Given the description of an element on the screen output the (x, y) to click on. 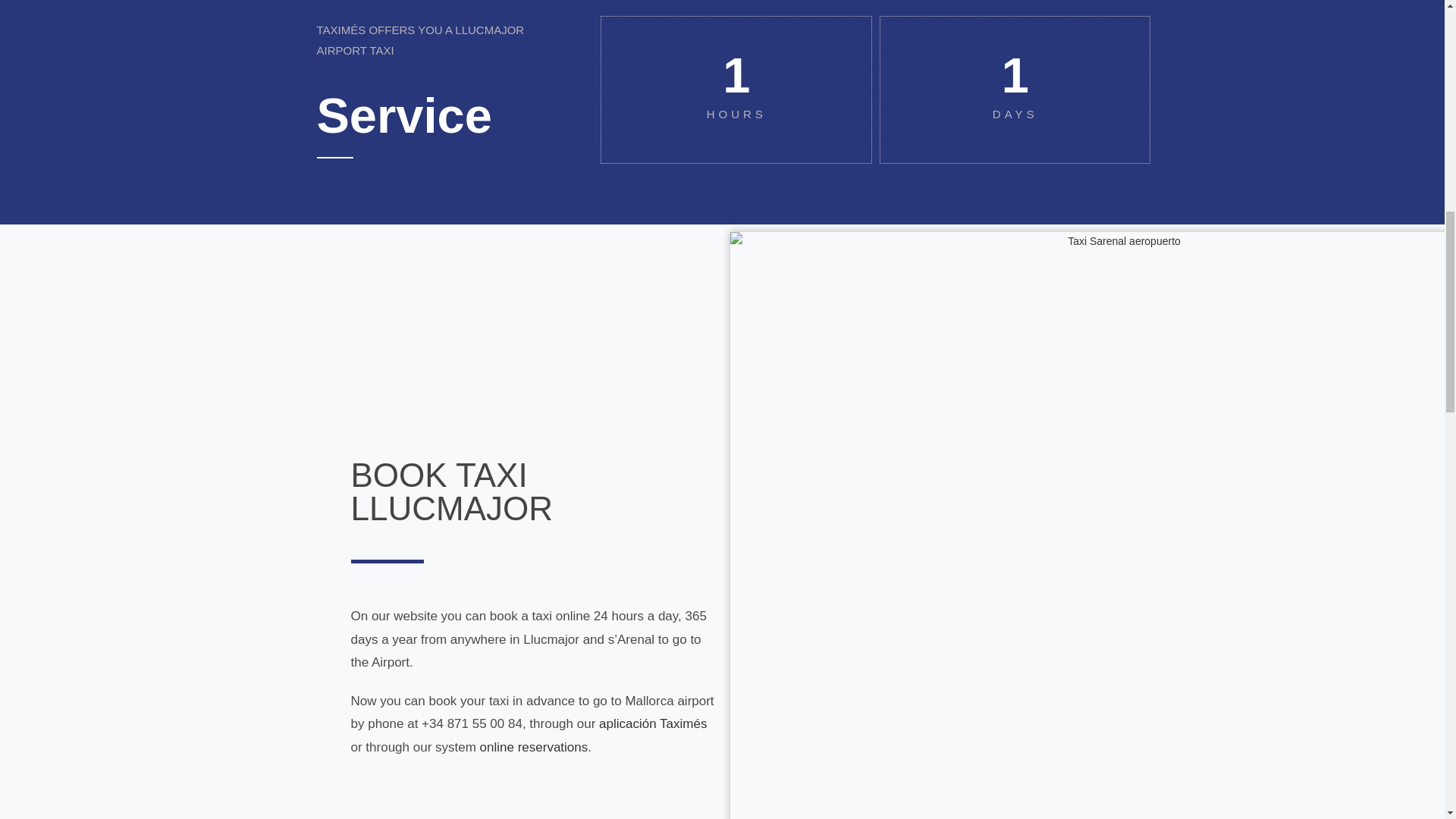
online reservations (534, 747)
